Given the description of an element on the screen output the (x, y) to click on. 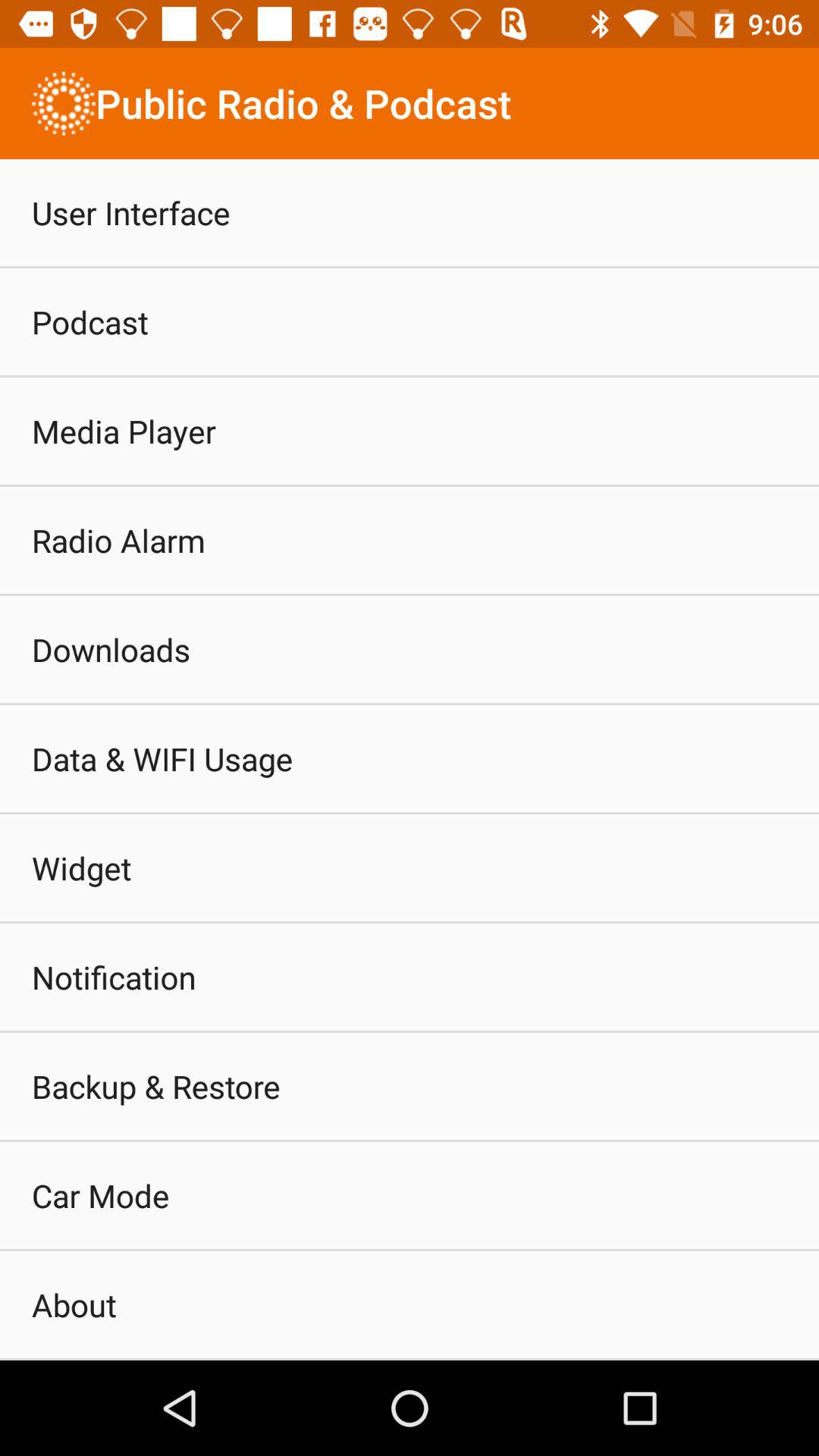
tap item below widget item (113, 976)
